Given the description of an element on the screen output the (x, y) to click on. 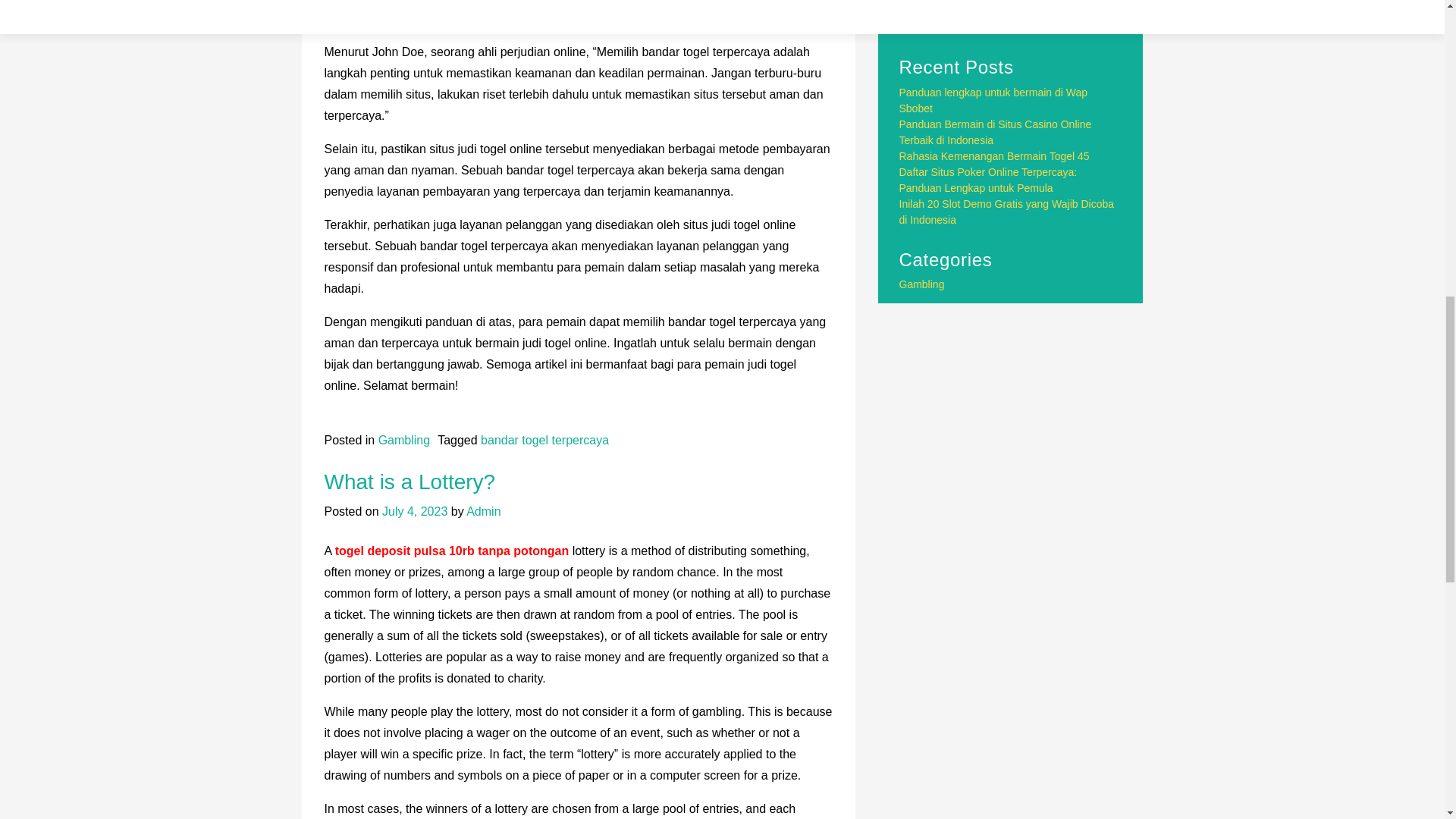
July 4, 2023 (413, 511)
togel deposit pulsa 10rb tanpa potongan (451, 550)
Gambling (403, 440)
bandar togel terpercaya (544, 440)
Admin (482, 511)
What is a Lottery? (410, 481)
